Given the description of an element on the screen output the (x, y) to click on. 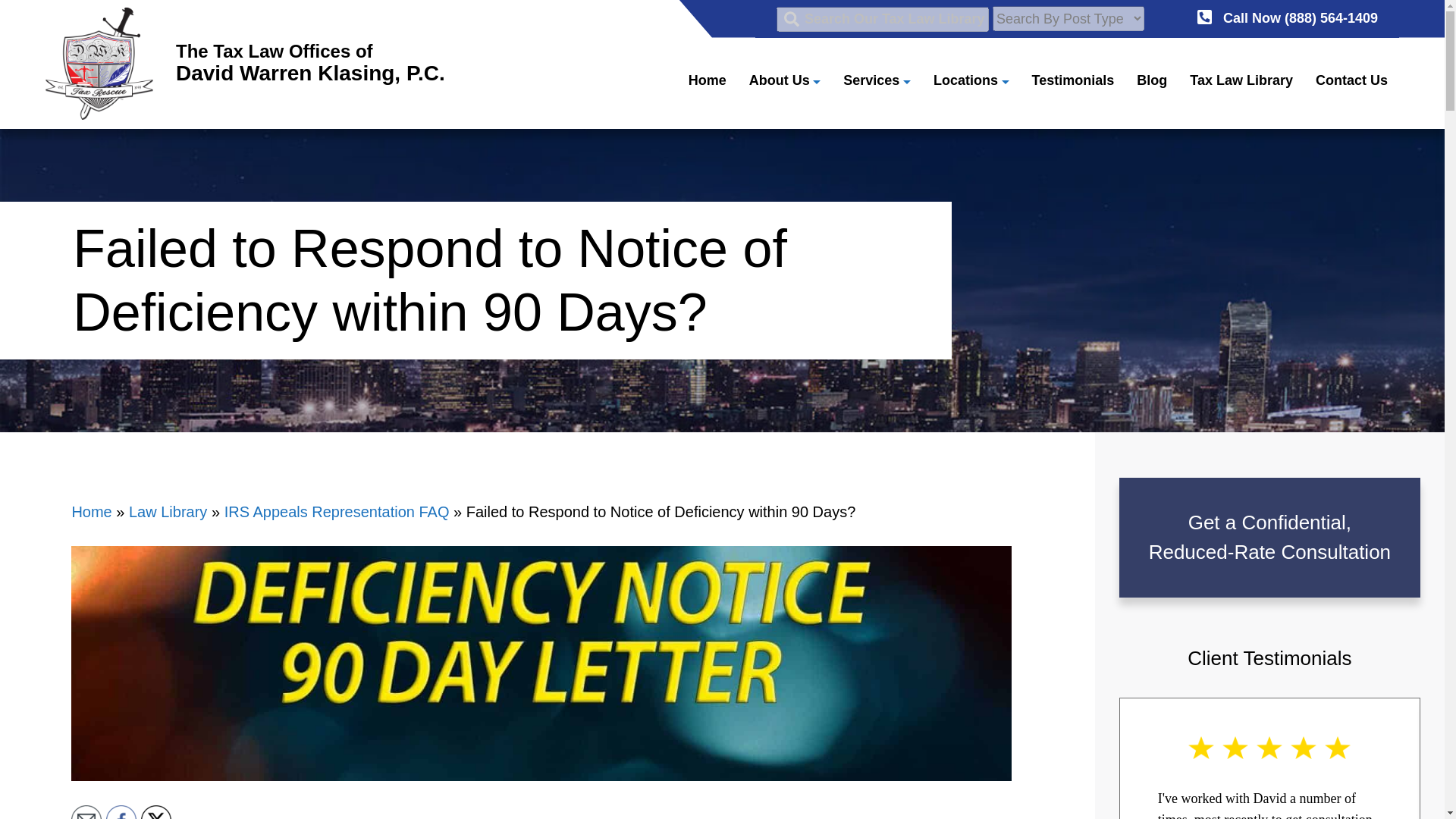
Services (877, 79)
Facebook (245, 63)
Search for: (121, 812)
About Us (882, 18)
Home (785, 79)
Follow by Email (707, 79)
